Given the description of an element on the screen output the (x, y) to click on. 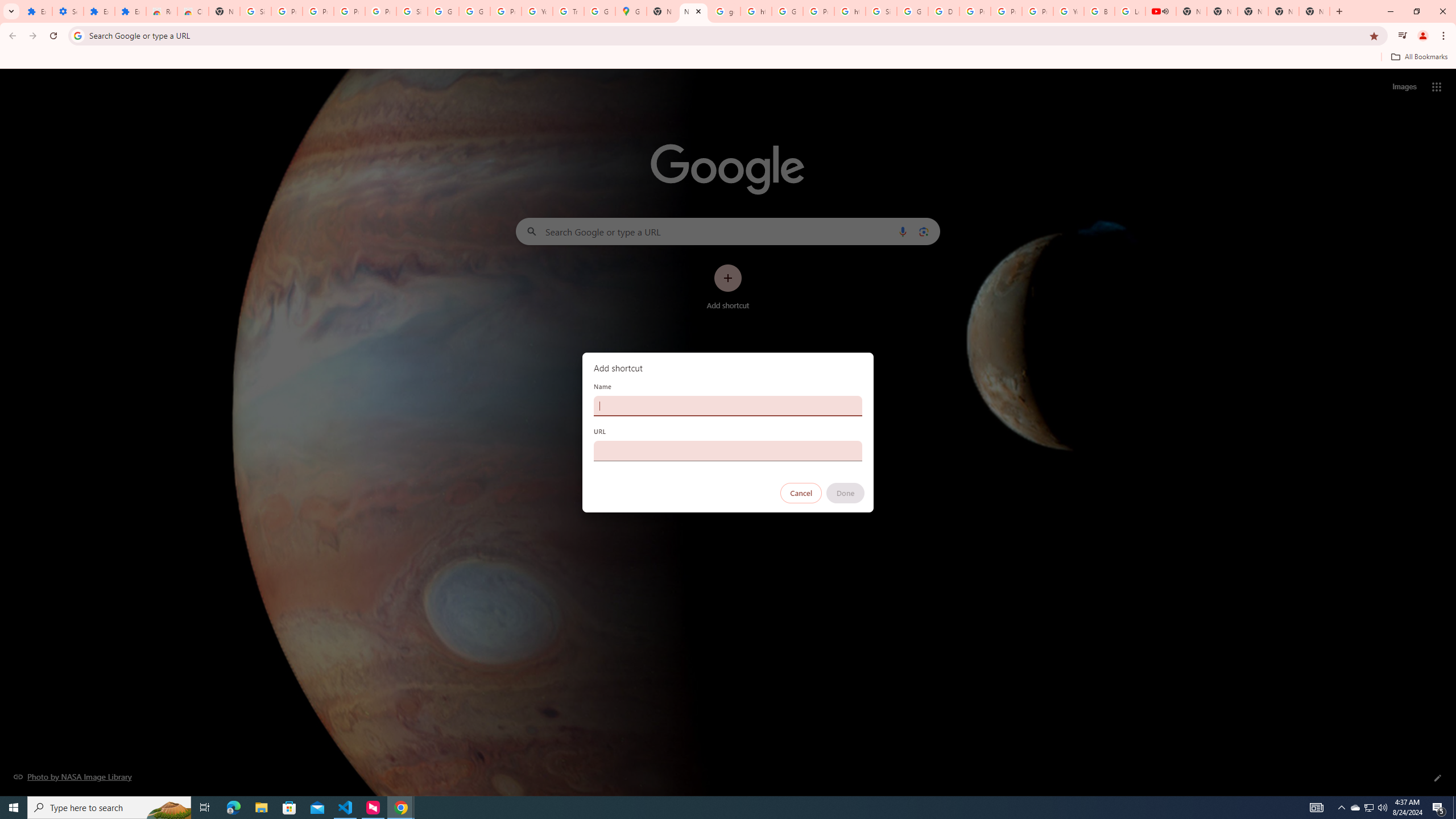
Extensions (130, 11)
Privacy Help Center - Policies Help (974, 11)
Name (727, 405)
